Given the description of an element on the screen output the (x, y) to click on. 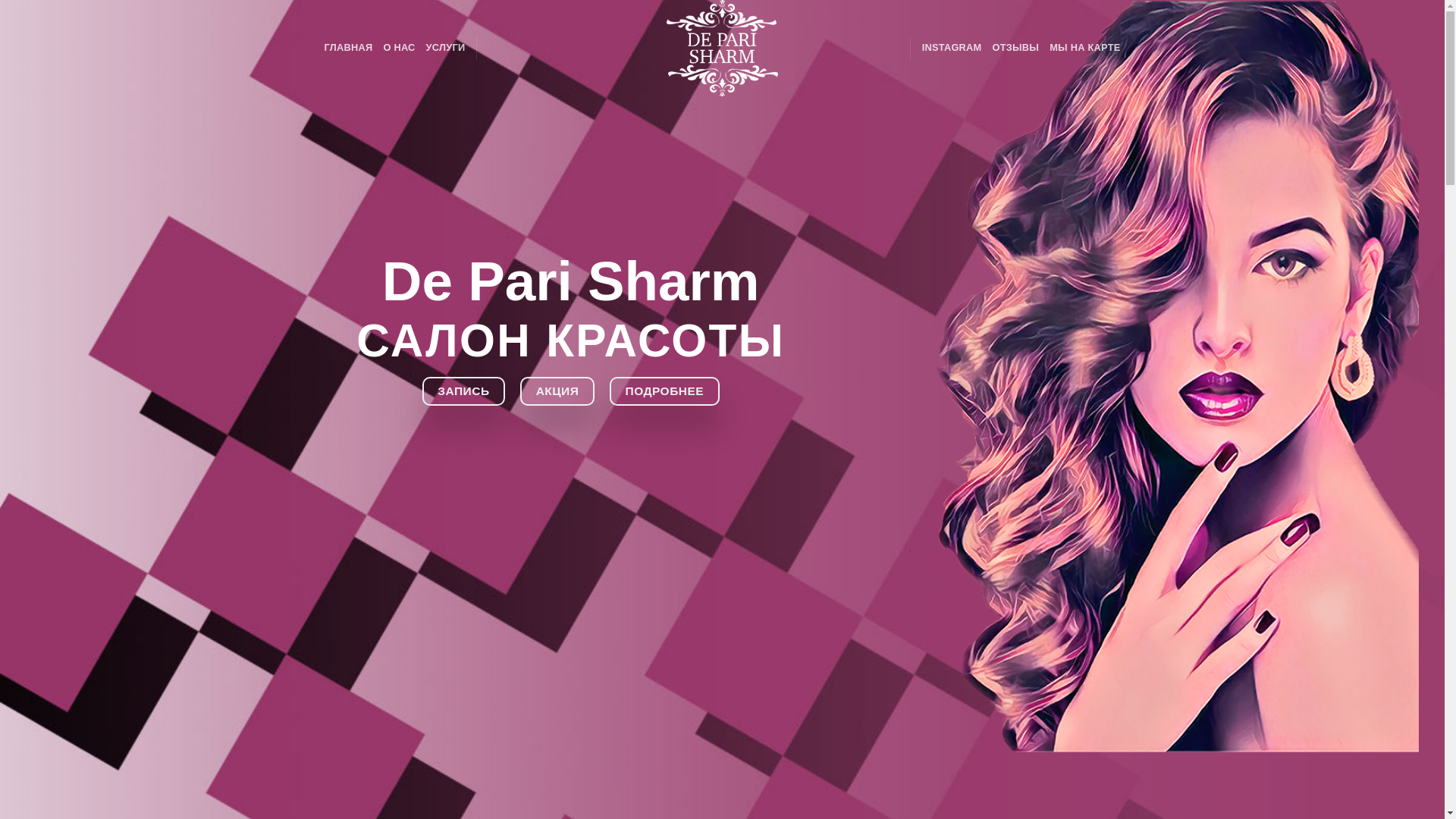
Skip to content Element type: text (0, 0)
INSTAGRAM Element type: text (952, 47)
